Given the description of an element on the screen output the (x, y) to click on. 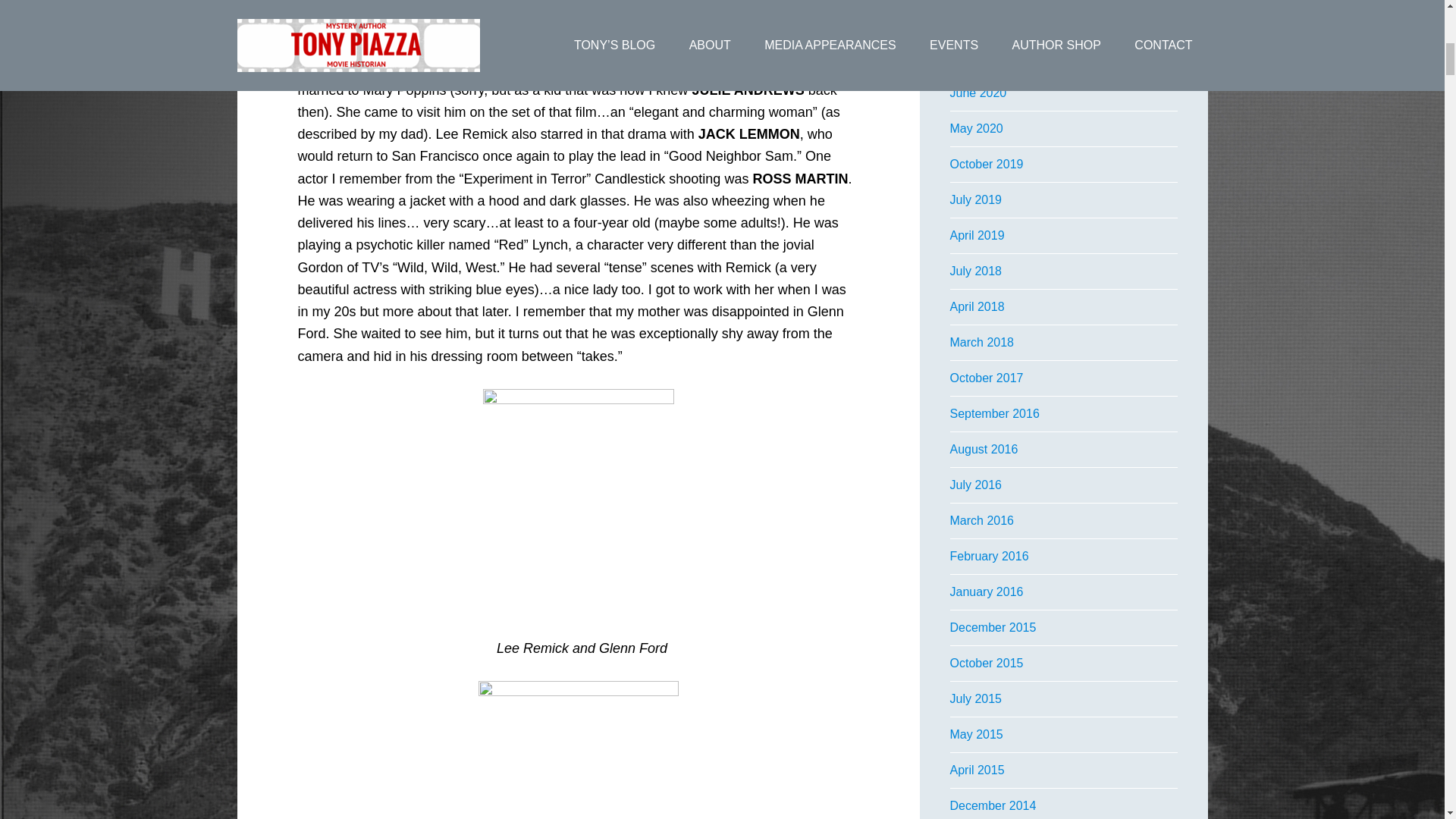
edwards (577, 749)
terror3 (576, 502)
